Given the description of an element on the screen output the (x, y) to click on. 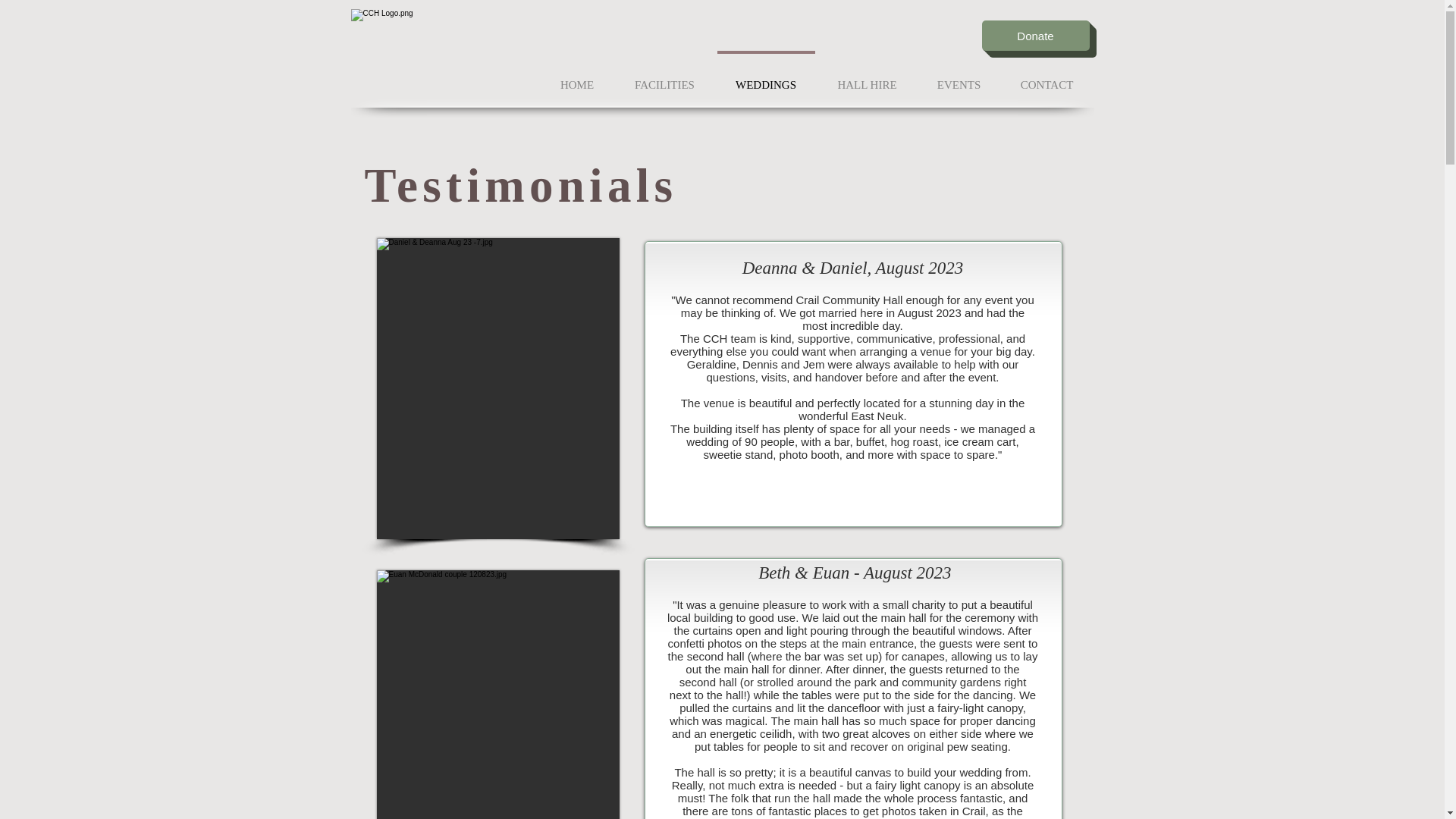
FACILITIES (664, 77)
EVENTS (959, 77)
HALL HIRE (866, 77)
WEDDINGS (765, 77)
Donate (1035, 35)
CONTACT (1047, 77)
HOME (577, 77)
